Given the description of an element on the screen output the (x, y) to click on. 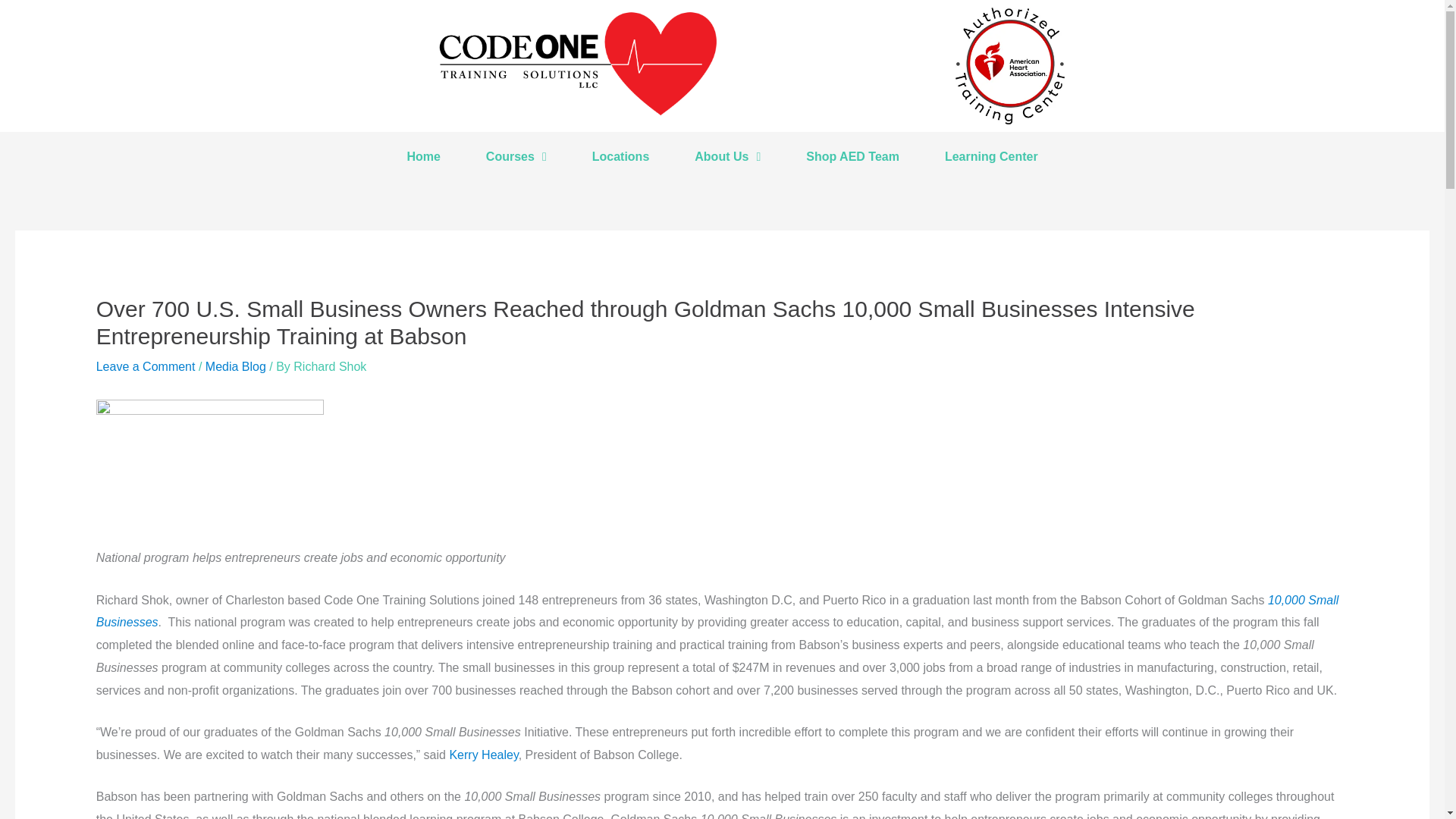
Locations (620, 156)
Media Blog (235, 366)
Shop AED Team (852, 156)
Courses (516, 156)
About Us (727, 156)
View all posts by Richard Shok (330, 366)
Learning Center (991, 156)
Leave a Comment (145, 366)
Home (422, 156)
